Given the description of an element on the screen output the (x, y) to click on. 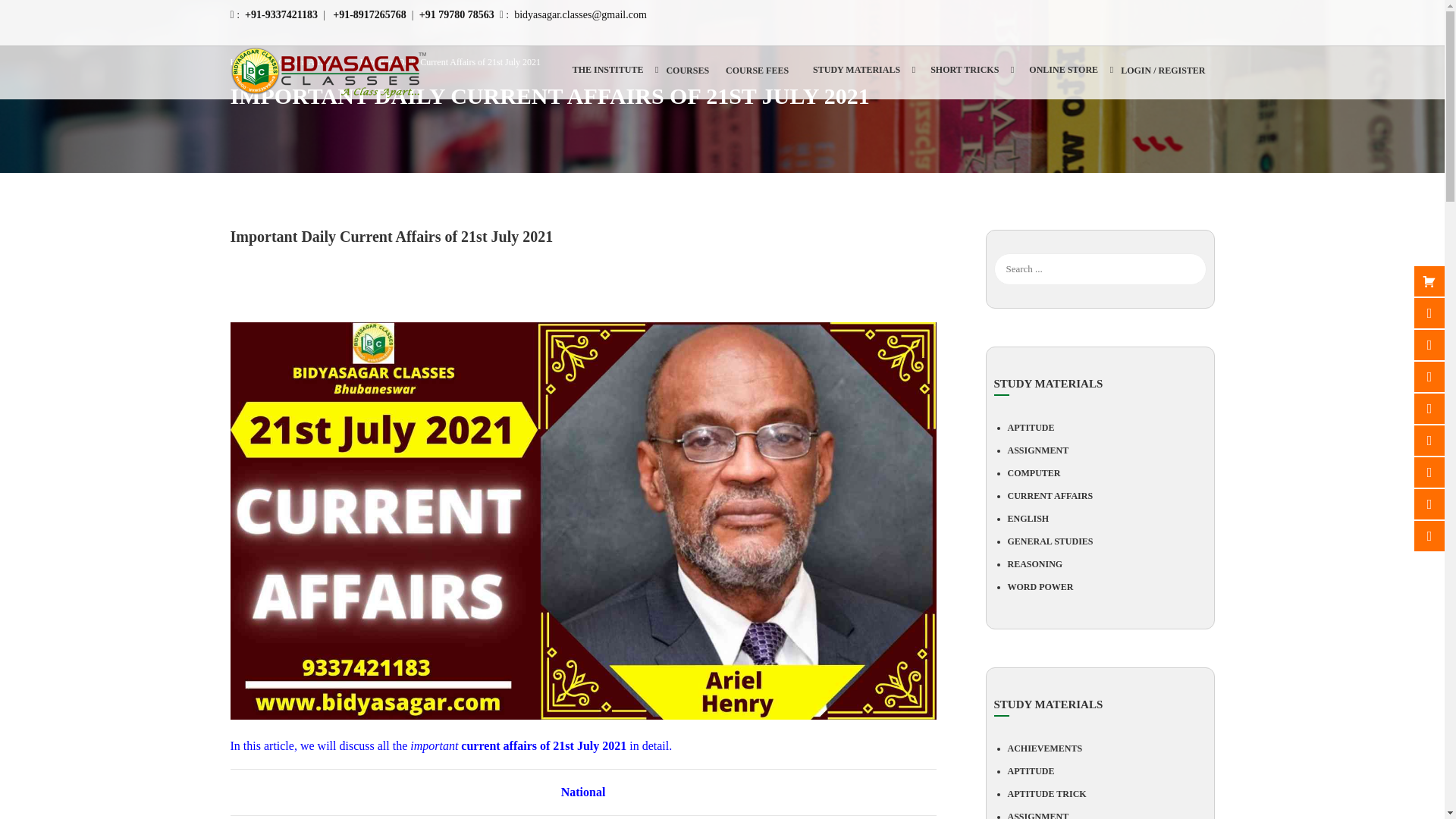
COURSE FEES (757, 76)
Important Daily Current Affairs of 21st July 2021 (449, 61)
Current Affairs (312, 62)
Home (248, 62)
BIDYASAGAR CLASSES - A Class Apart (329, 72)
COURSES (687, 76)
